Given the description of an element on the screen output the (x, y) to click on. 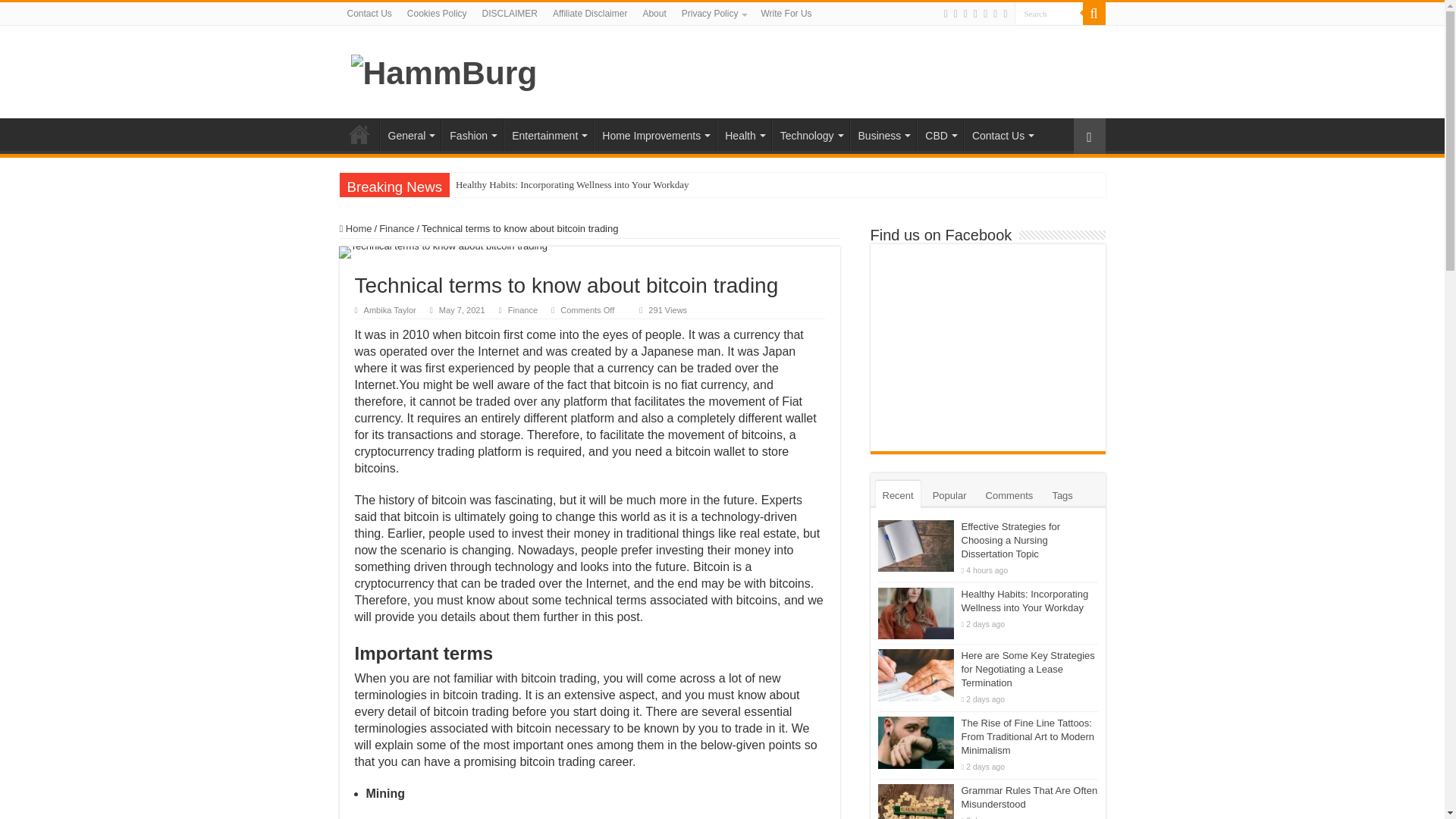
Search (1048, 13)
Search (1048, 13)
Search (1048, 13)
